Given the description of an element on the screen output the (x, y) to click on. 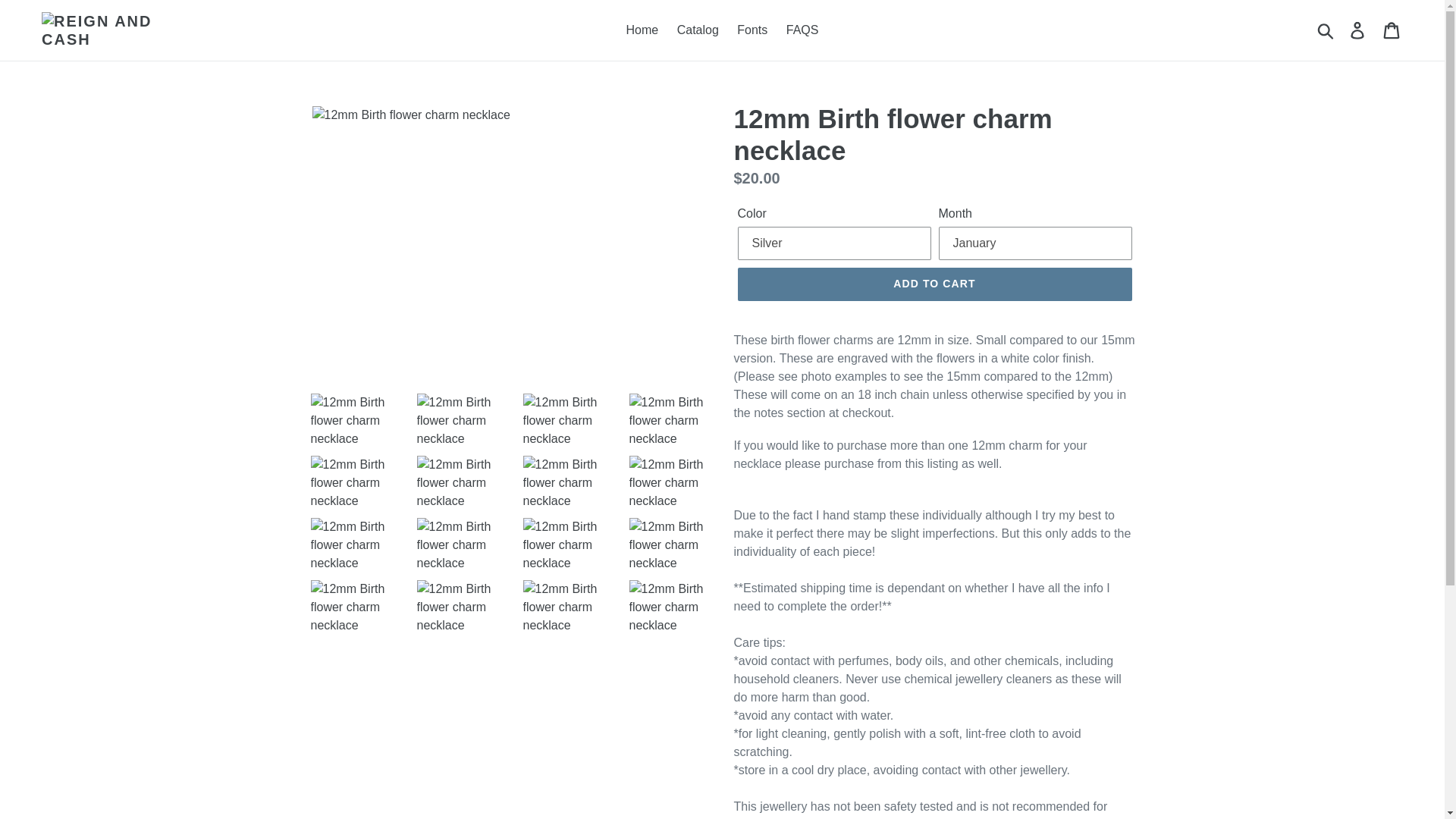
Catalog (697, 29)
Cart (1392, 29)
Log in (1357, 29)
Home (642, 29)
FAQS (802, 29)
Submit (1326, 29)
ADD TO CART (933, 284)
Fonts (751, 29)
